Given the description of an element on the screen output the (x, y) to click on. 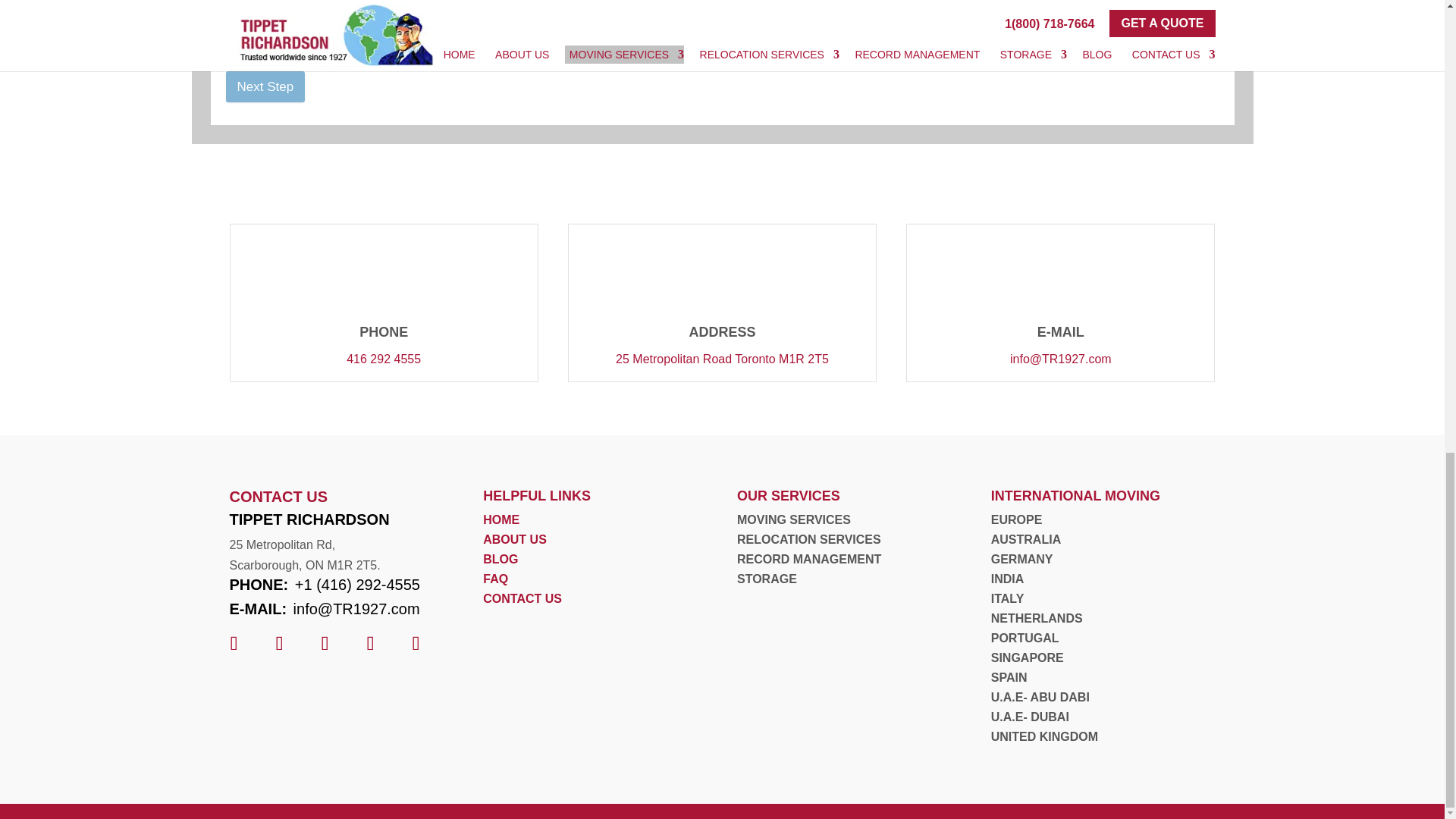
Follow on Facebook (233, 643)
Follow on Instagram (370, 643)
Follow on Youtube (415, 643)
Follow on X (323, 643)
Follow on LinkedIn (278, 643)
